Given the description of an element on the screen output the (x, y) to click on. 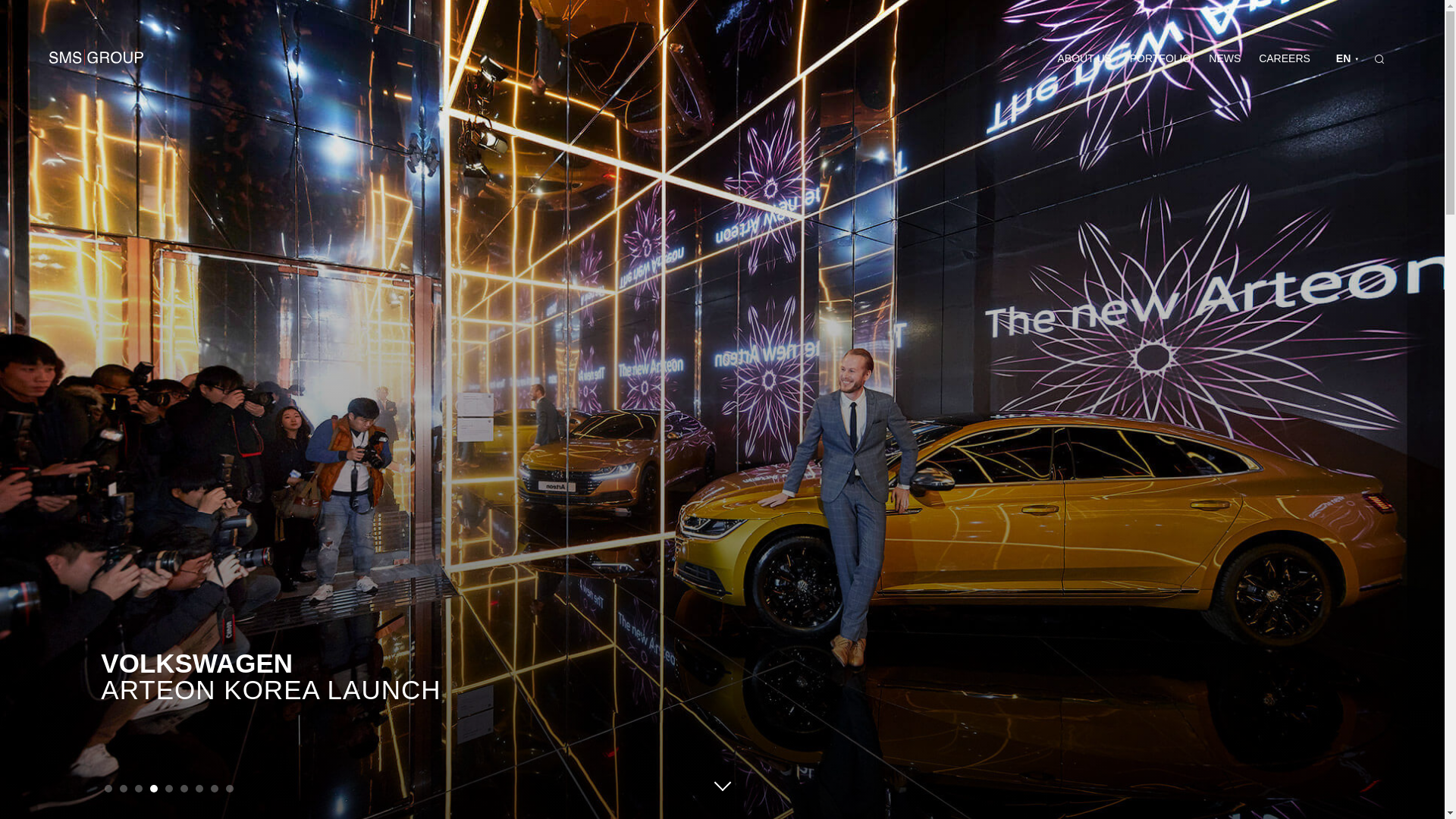
NEWS Element type: text (1224, 58)
ABOUT US Element type: text (1084, 58)
SMS GROUP Element type: hover (96, 56)
PORTFOLIO Element type: text (1160, 58)
CAREERS Element type: text (1284, 58)
